Given the description of an element on the screen output the (x, y) to click on. 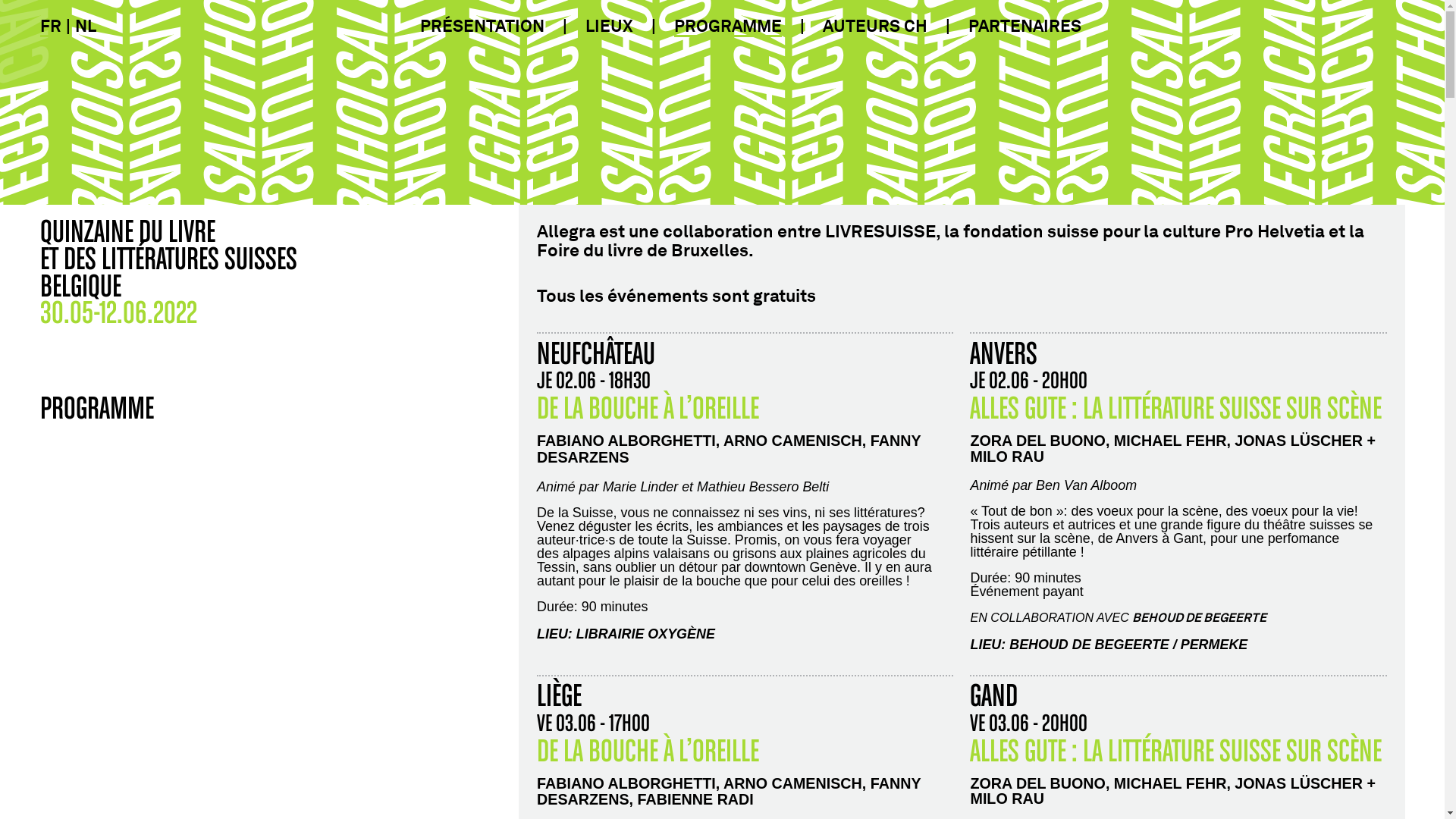
JE 02.06 - 18H30 Element type: text (593, 382)
FABIENNE RADI Element type: text (695, 798)
PROGRAMME Element type: text (727, 25)
FANNY DESARZENS Element type: text (728, 448)
MICHAEL FEHR Element type: text (1169, 440)
NL Element type: text (84, 25)
BEHOUD DE BEGEERTE Element type: text (1199, 617)
FABIANO ALBORGHETTI Element type: text (625, 440)
VE 03.06 - 17H00 Element type: text (592, 724)
QUINZAINE DU LIVRE Element type: text (126, 229)
ARNO CAMENISCH Element type: text (792, 783)
ZORA DEL BUONO Element type: text (1036, 783)
LIEU: BEHOUD DE BEGEERTE / PERMEKE Element type: text (1177, 644)
ZORA DEL BUONO Element type: text (1036, 440)
LIEUX Element type: text (609, 25)
PARTENAIRES Element type: text (1023, 25)
MICHAEL FEHR Element type: text (1169, 783)
VE 03.06 - 20H00 Element type: text (1028, 724)
AUTEURS CH Element type: text (874, 25)
FABIANO ALBORGHETTI Element type: text (625, 783)
ARNO Element type: text (747, 440)
FANNY DESARZENS Element type: text (728, 791)
FR Element type: text (49, 25)
CAMENISCH Element type: text (816, 440)
JE 02.06 - 20H00 Element type: text (1028, 382)
